Given the description of an element on the screen output the (x, y) to click on. 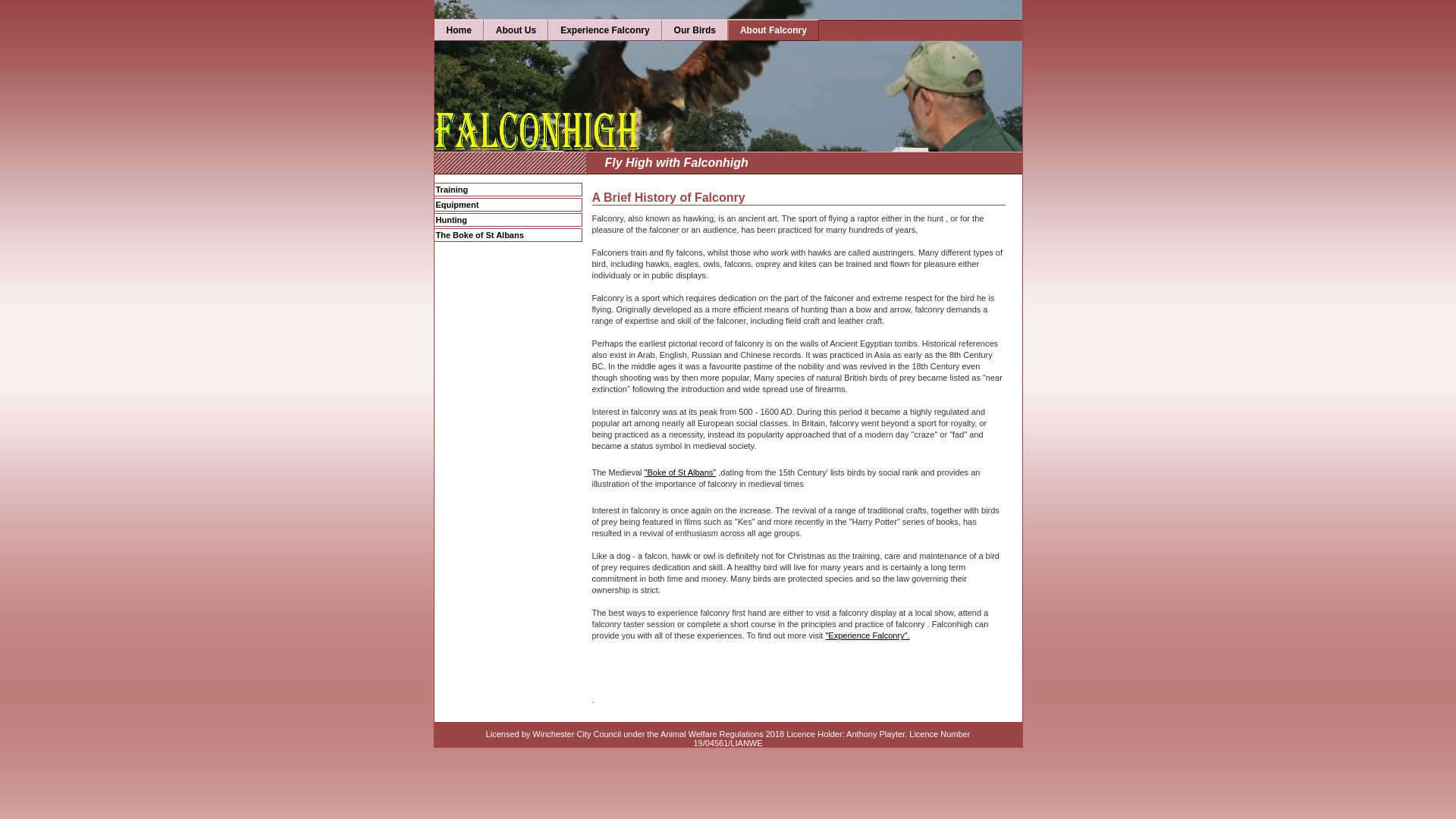
The Boke of St Albans (506, 234)
Our Birds (695, 29)
"Experience Falconry". (983, 640)
About Falconry (773, 29)
"Boke of St Albans" (680, 471)
Home (458, 29)
Experience Falconry (604, 29)
Equipment (506, 204)
About Us (515, 29)
Training (506, 189)
Hunting (506, 219)
